Given the description of an element on the screen output the (x, y) to click on. 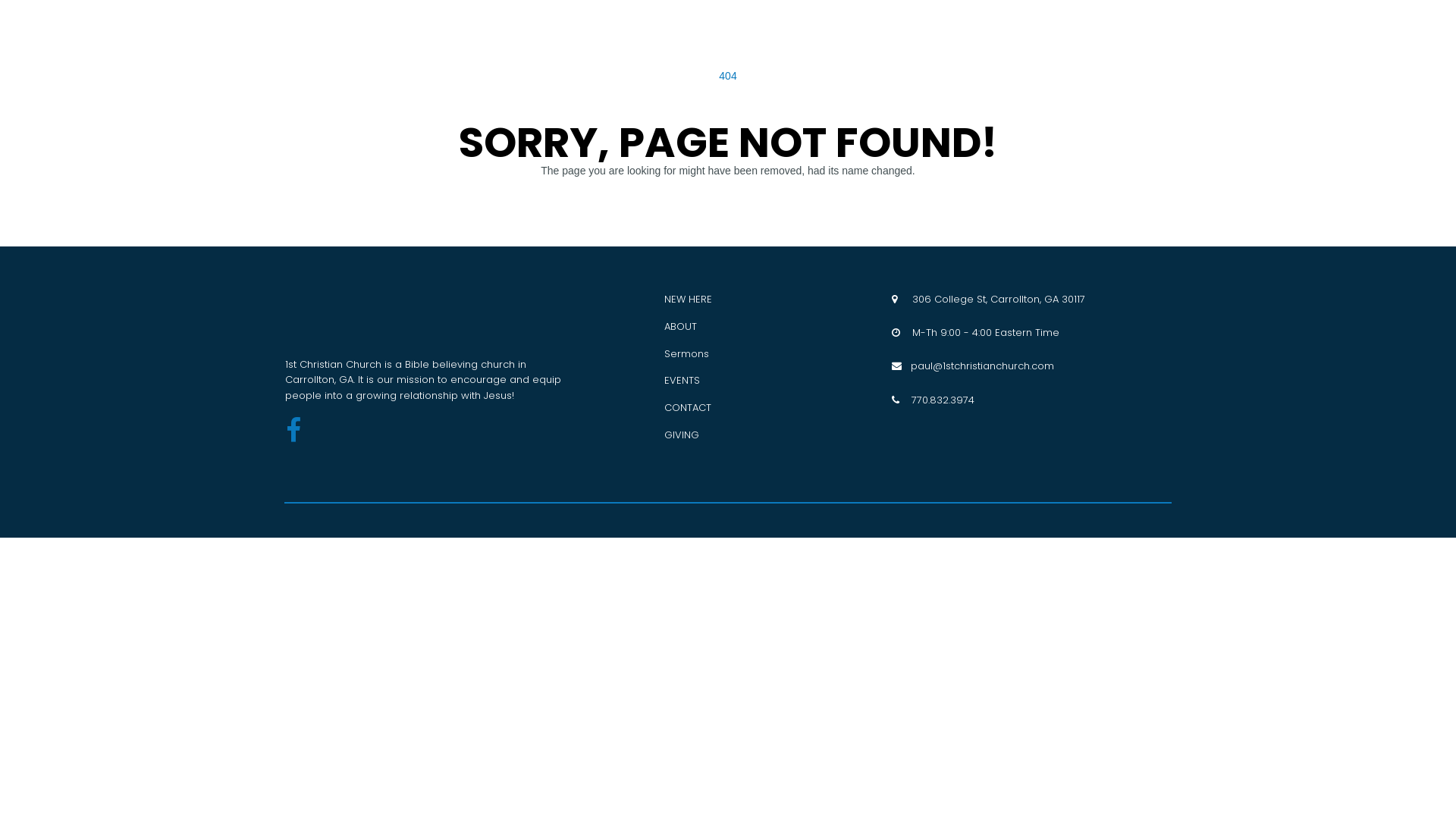
Sermons Element type: text (686, 353)
GIVING Element type: text (681, 434)
EVENTS Element type: text (681, 380)
CONTACT Element type: text (687, 407)
NEW HERE Element type: text (688, 298)
ABOUT Element type: text (680, 326)
